Given the description of an element on the screen output the (x, y) to click on. 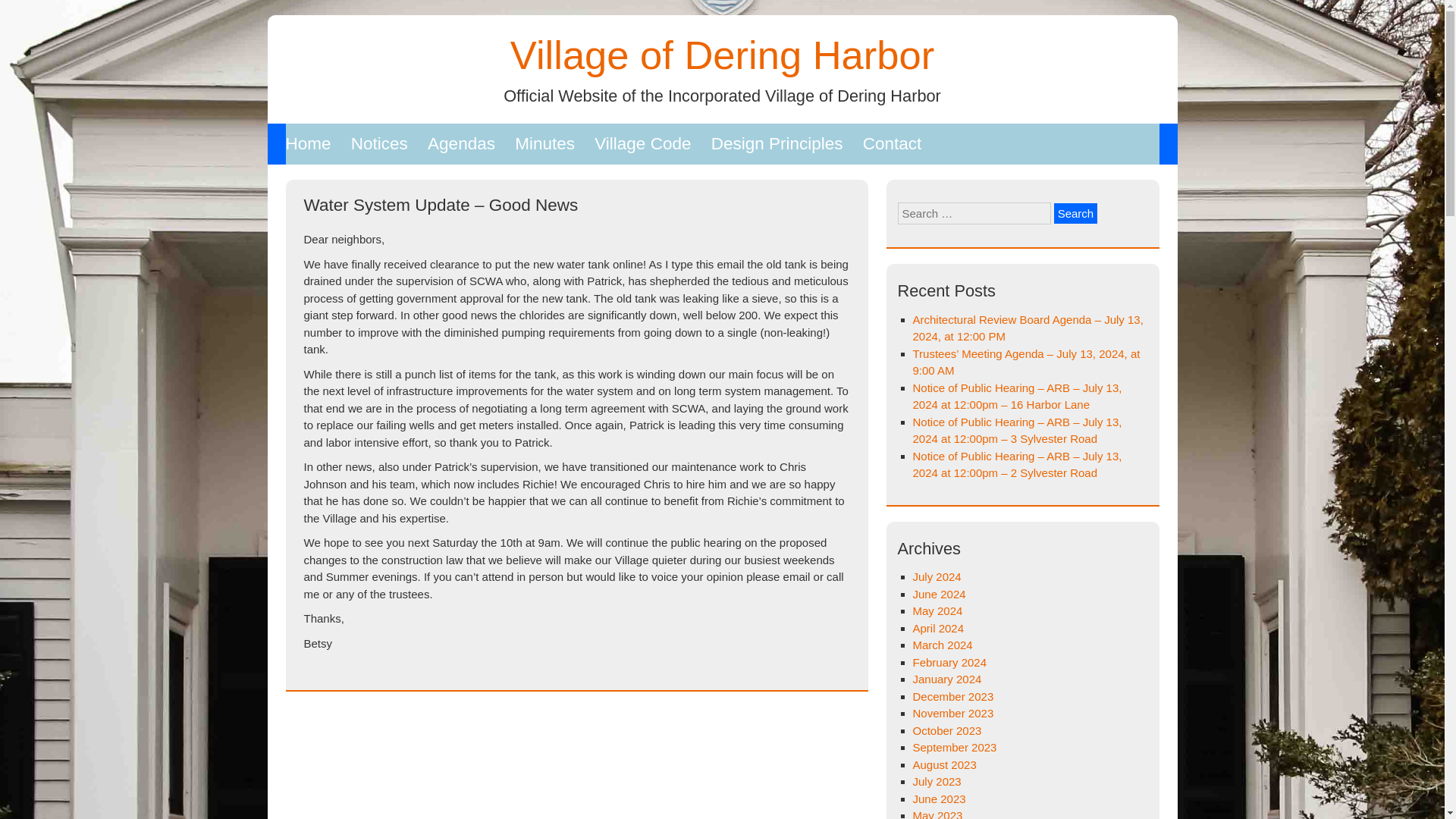
September 2023 (954, 747)
October 2023 (946, 730)
Search (1075, 213)
Notices (378, 143)
Minutes (545, 143)
Village of Dering Harbor (722, 54)
April 2024 (937, 627)
Village of Dering Harbor (722, 54)
March 2024 (942, 644)
June 2023 (939, 798)
February 2024 (949, 662)
June 2024 (939, 594)
Contact (892, 143)
Search (1075, 213)
December 2023 (953, 696)
